Given the description of an element on the screen output the (x, y) to click on. 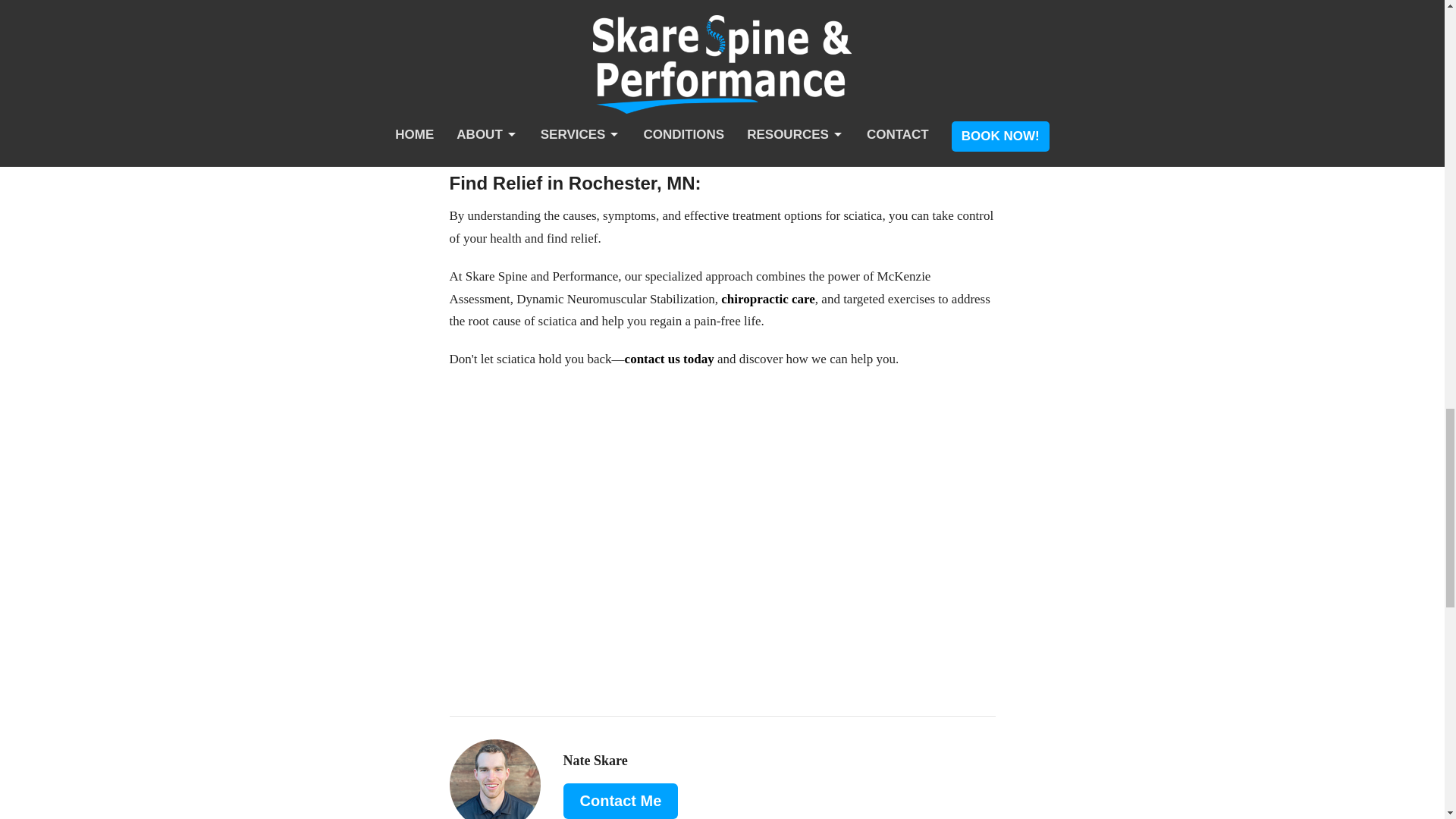
contact us today (669, 359)
Contact Me (620, 800)
chiropractic care (767, 298)
